Given the description of an element on the screen output the (x, y) to click on. 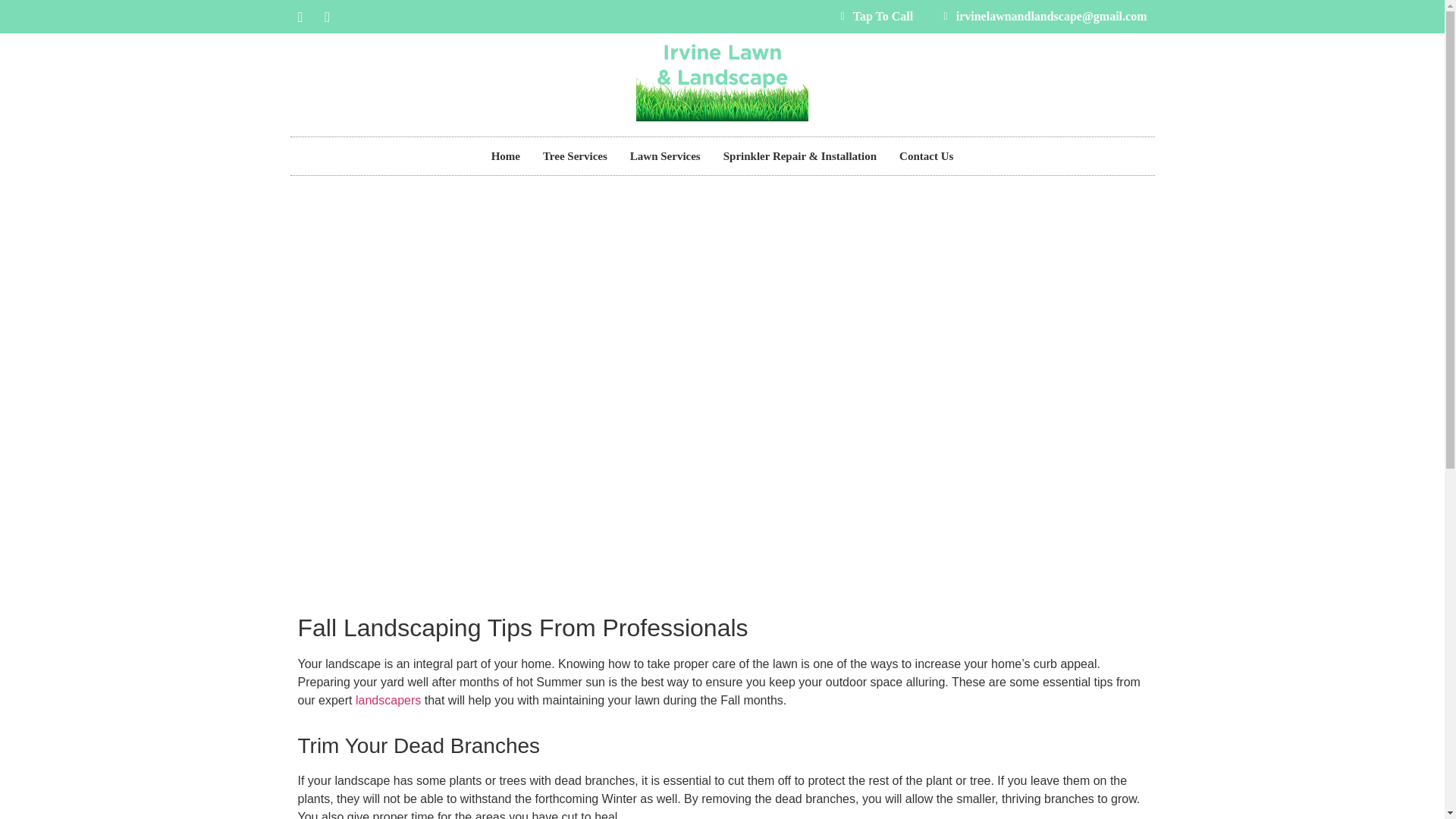
Home (505, 155)
Contact Us (925, 155)
Tree Services (574, 155)
landscapers (387, 698)
Lawn Services (664, 155)
Tap To Call (871, 16)
